Given the description of an element on the screen output the (x, y) to click on. 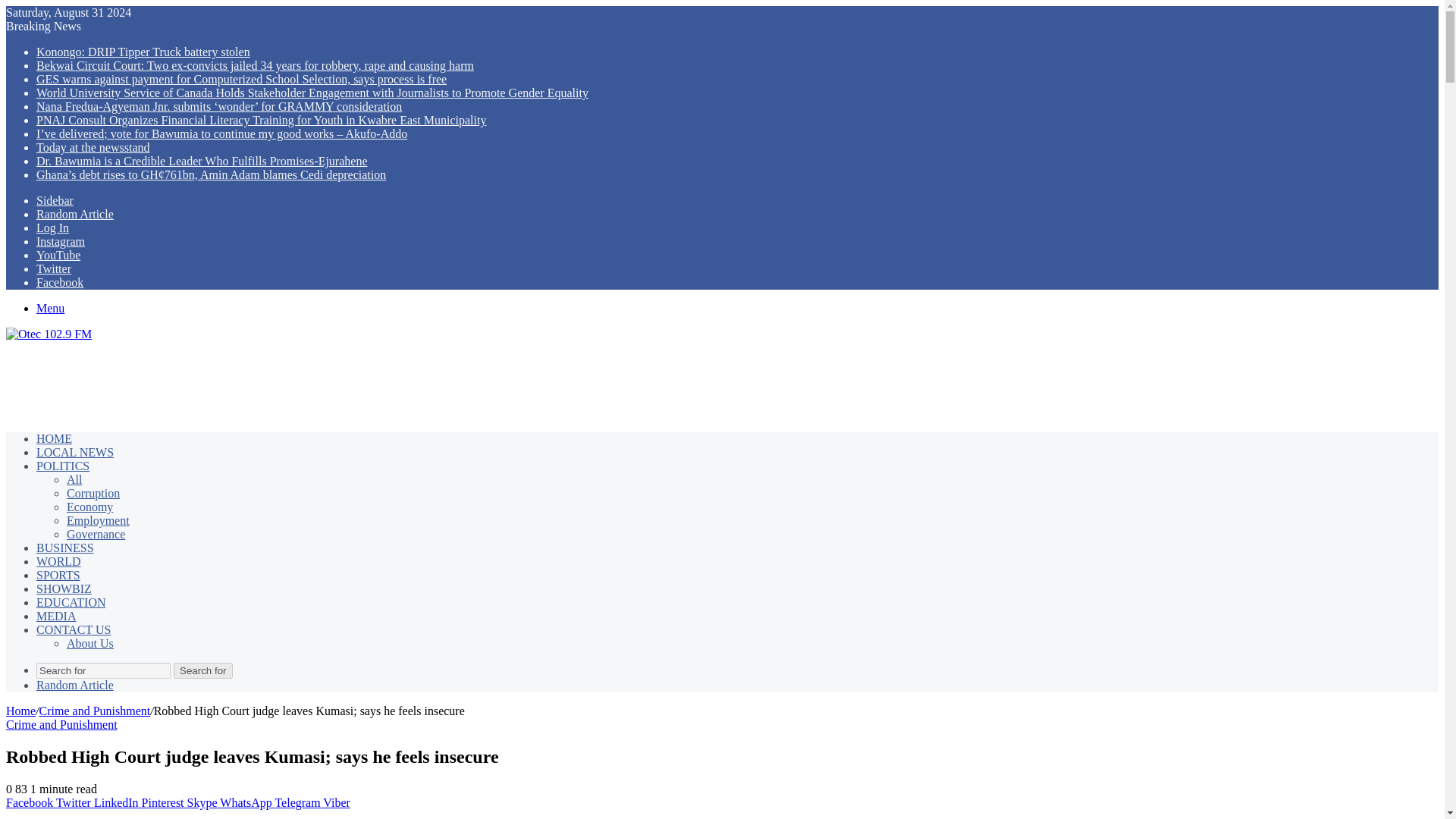
Search for (202, 670)
WhatsApp (247, 802)
Random Article (74, 214)
Twitter (53, 268)
Otec 102.9 FM (48, 333)
Crime and Punishment (95, 710)
Konongo: DRIP Tipper Truck battery stolen (143, 51)
Facebook (59, 282)
